Given the description of an element on the screen output the (x, y) to click on. 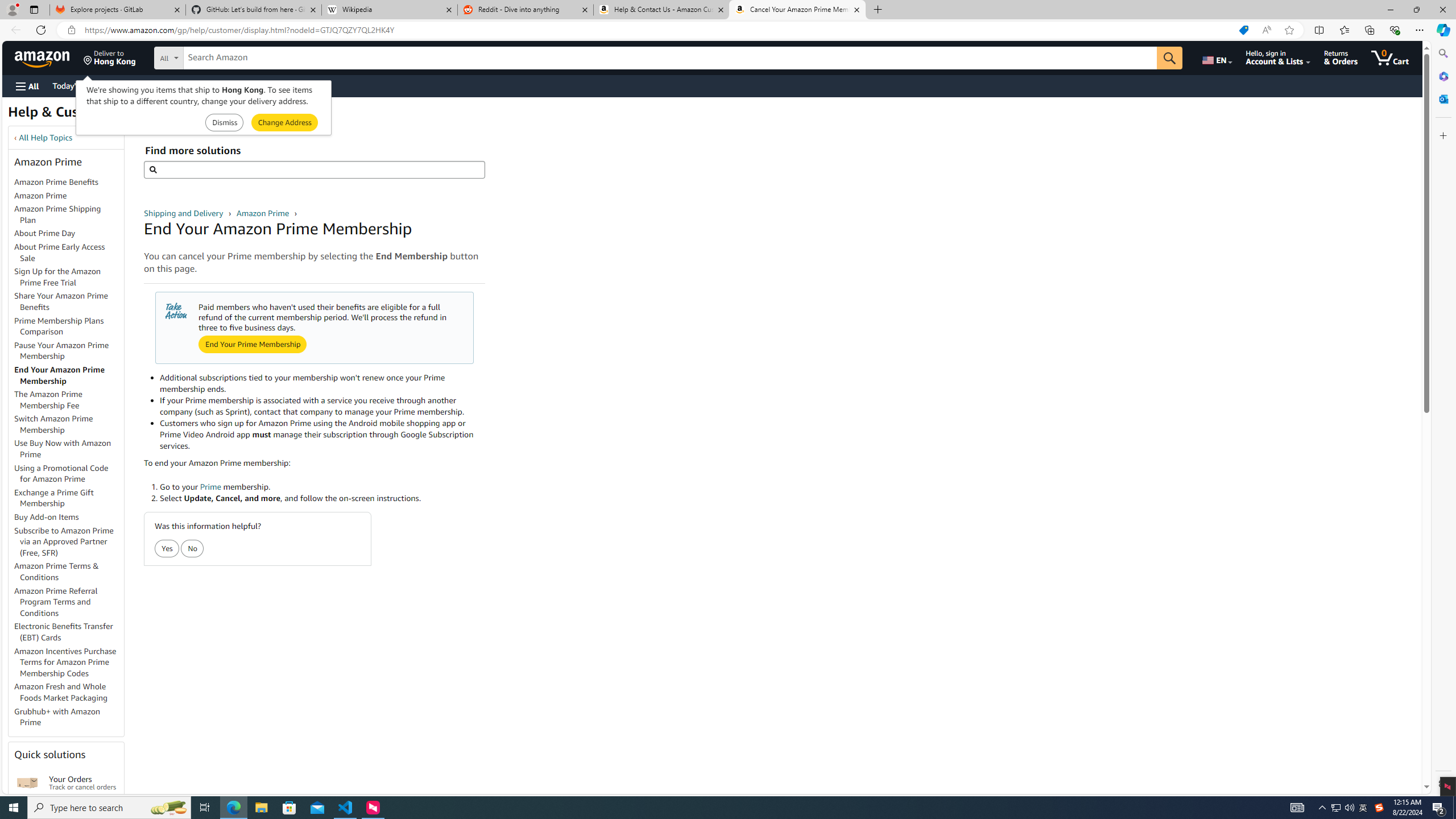
Using a Promotional Code for Amazon Prime (61, 473)
Shipping and Delivery  (184, 213)
Prime (210, 486)
Electronic Benefits Transfer (EBT) Cards (68, 631)
Amazon Prime  (263, 213)
0 items in cart (1389, 57)
All Help Topics (45, 137)
